Given the description of an element on the screen output the (x, y) to click on. 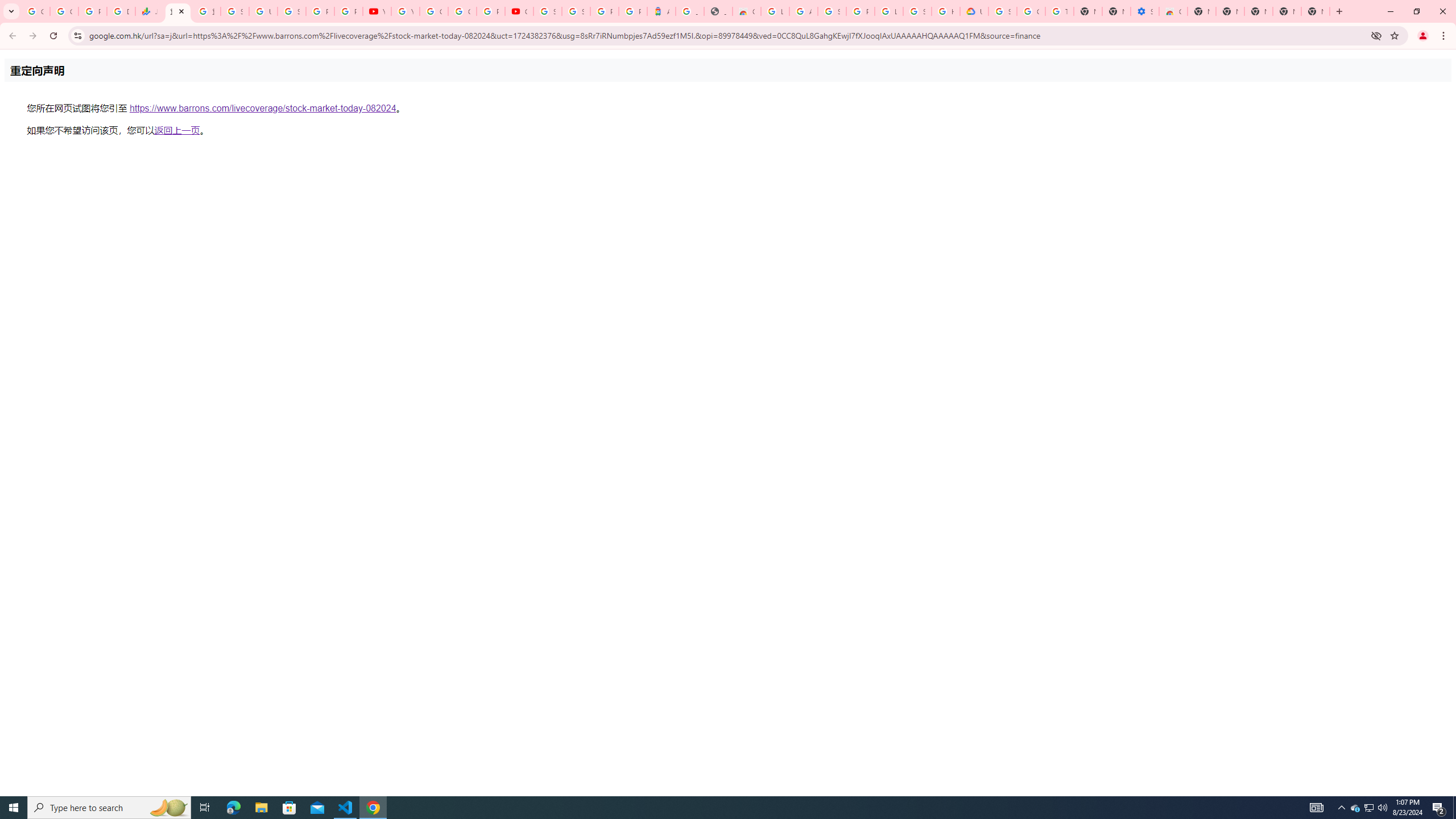
Sign in - Google Accounts (1002, 11)
Content Creator Programs & Opportunities - YouTube Creators (518, 11)
New Tab (1315, 11)
YouTube (405, 11)
Sign in - Google Accounts (831, 11)
Google Account Help (1030, 11)
Chrome Web Store - Accessibility extensions (1173, 11)
